Given the description of an element on the screen output the (x, y) to click on. 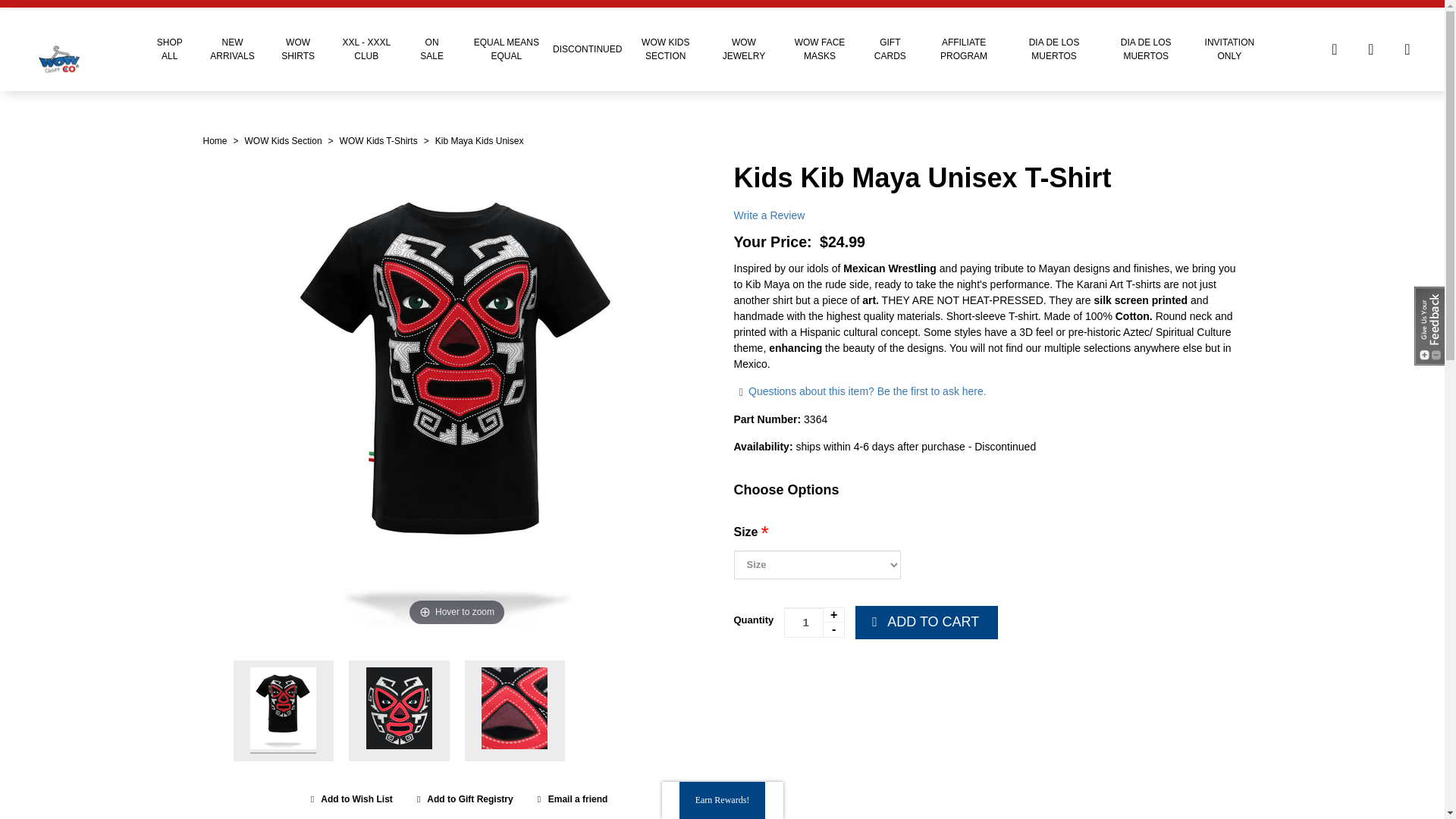
AFFILIATE PROGRAM (964, 49)
INVITATION ONLY (1229, 49)
Add to Wish List (349, 799)
WOW JEWELRY (743, 49)
WOW FACE MASKS (819, 49)
WOW SHIRTS (298, 49)
EQUAL MEANS EQUAL (506, 49)
DIA DE LOS MUERTOS (1146, 49)
1 (814, 622)
Home (215, 140)
NEW ARRIVALS (232, 49)
DISCONTINUED (587, 49)
ON SALE (431, 49)
